Given the description of an element on the screen output the (x, y) to click on. 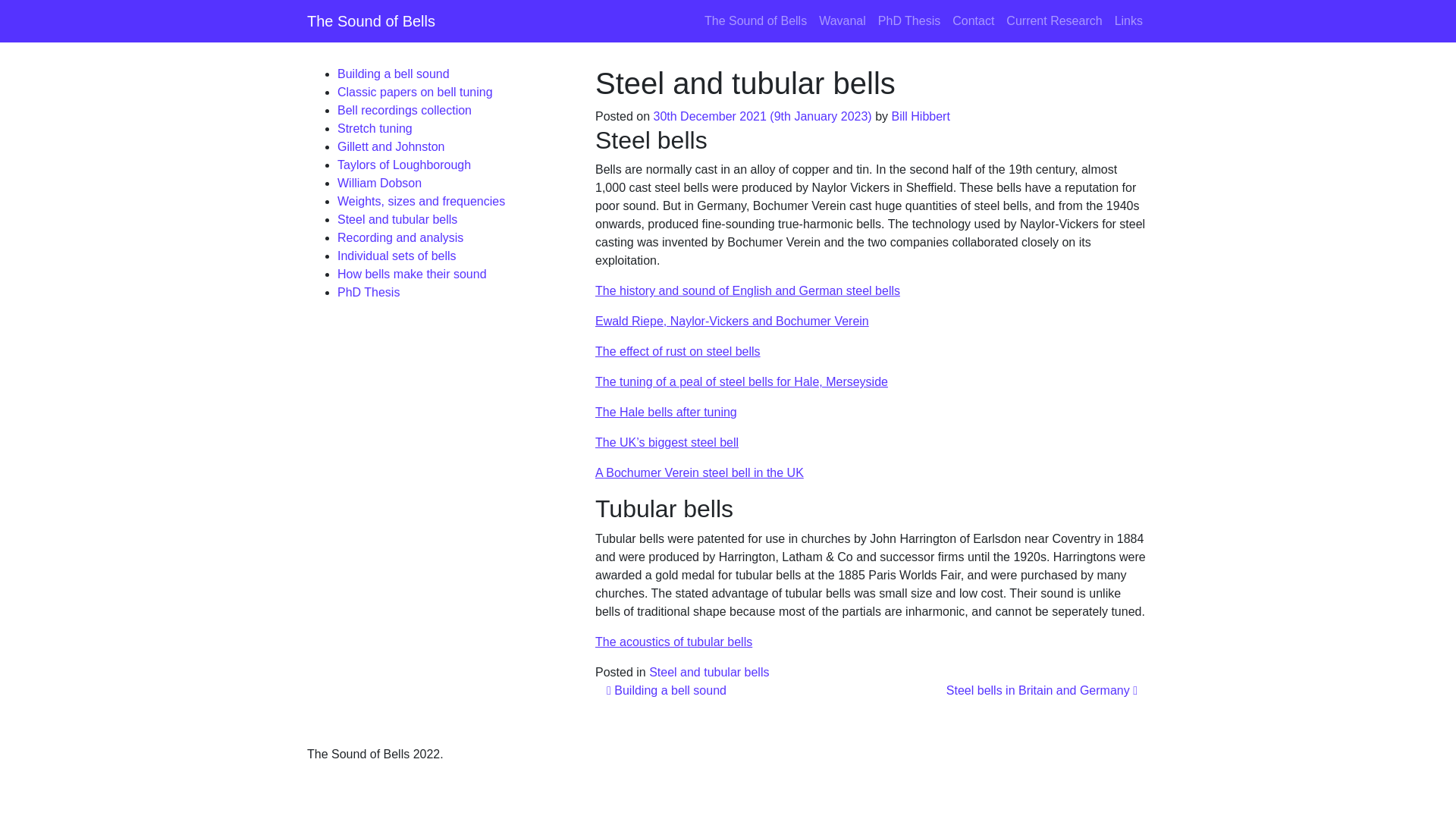
Bill Hibbert (920, 115)
Classic papers on bell tuning (415, 91)
Steel bells in Britain and Germany  (1041, 689)
The tuning of a peal of steel bells for Hale, Merseyside (741, 381)
The Sound of Bells (755, 20)
The Sound of Bells (371, 20)
Recording and analysis (400, 237)
Individual sets of bells (397, 255)
Stretch tuning (374, 128)
PhD Thesis (909, 20)
Steel and tubular bells (708, 671)
 Building a bell sound (666, 689)
The acoustics of tubular bells (673, 641)
Gillett and Johnston (390, 146)
The Hale bells after tuning (665, 411)
